Given the description of an element on the screen output the (x, y) to click on. 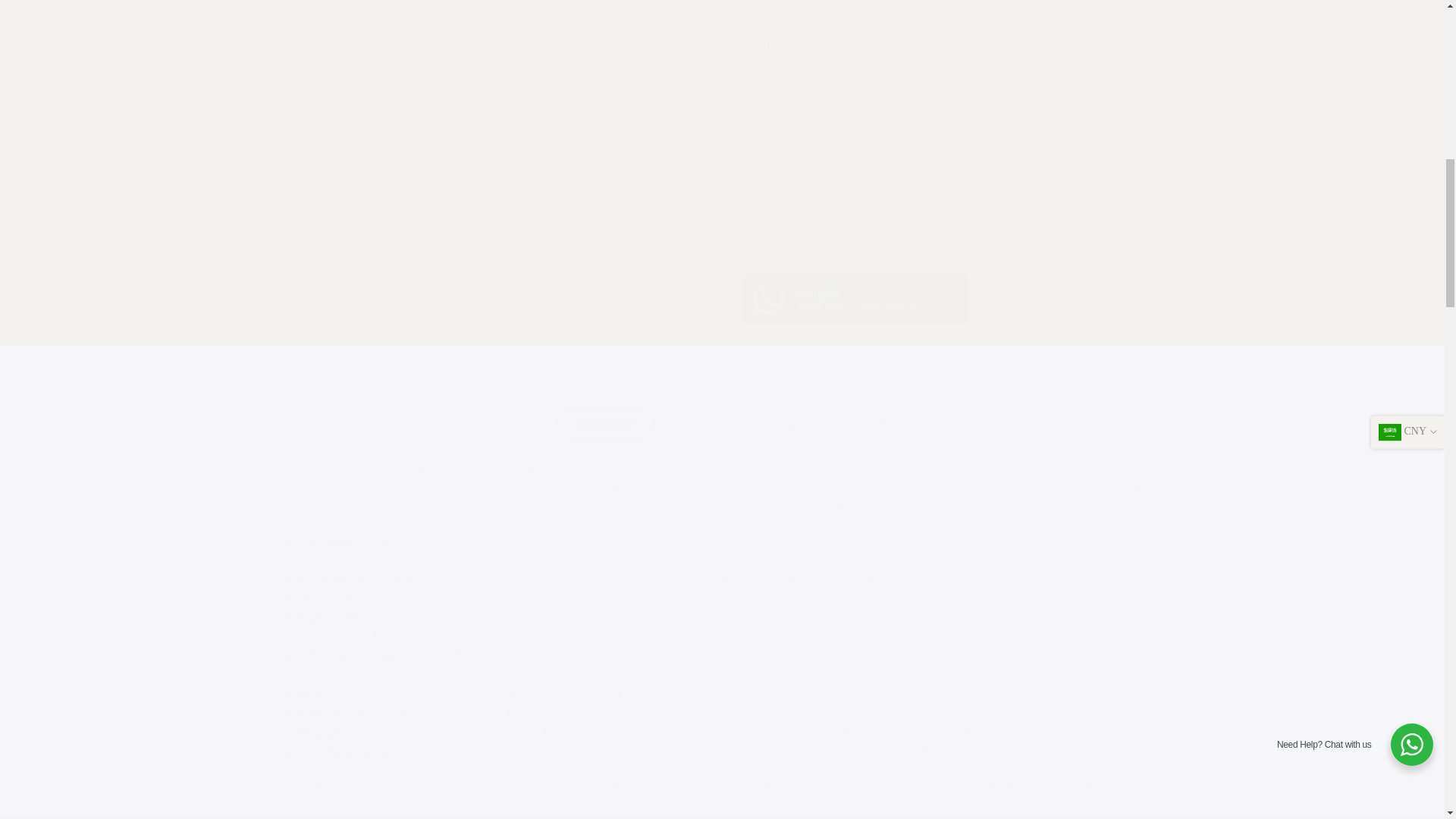
1 (949, 35)
